Given the description of an element on the screen output the (x, y) to click on. 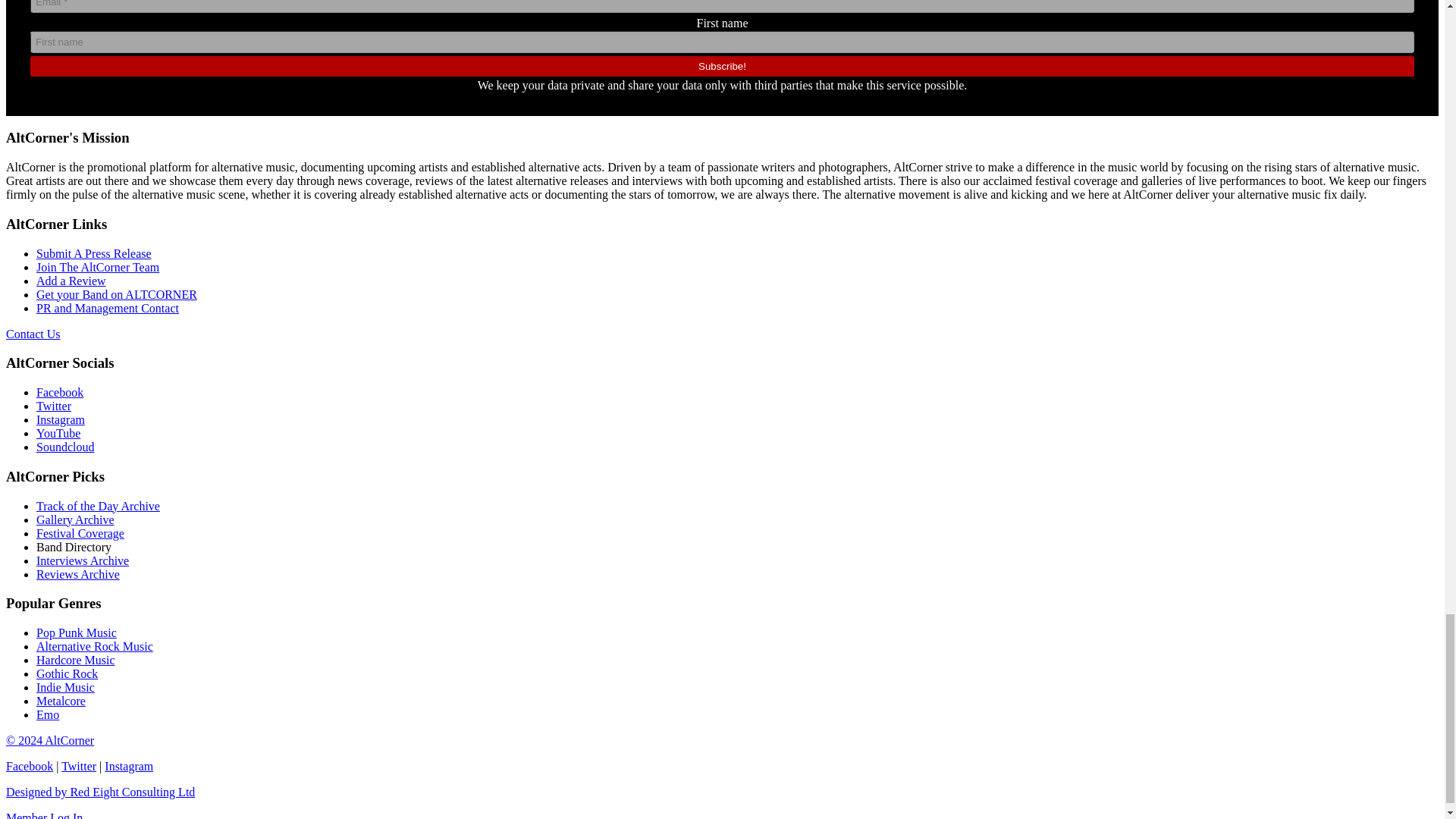
First name (721, 42)
Subscribe! (721, 66)
